Given the description of an element on the screen output the (x, y) to click on. 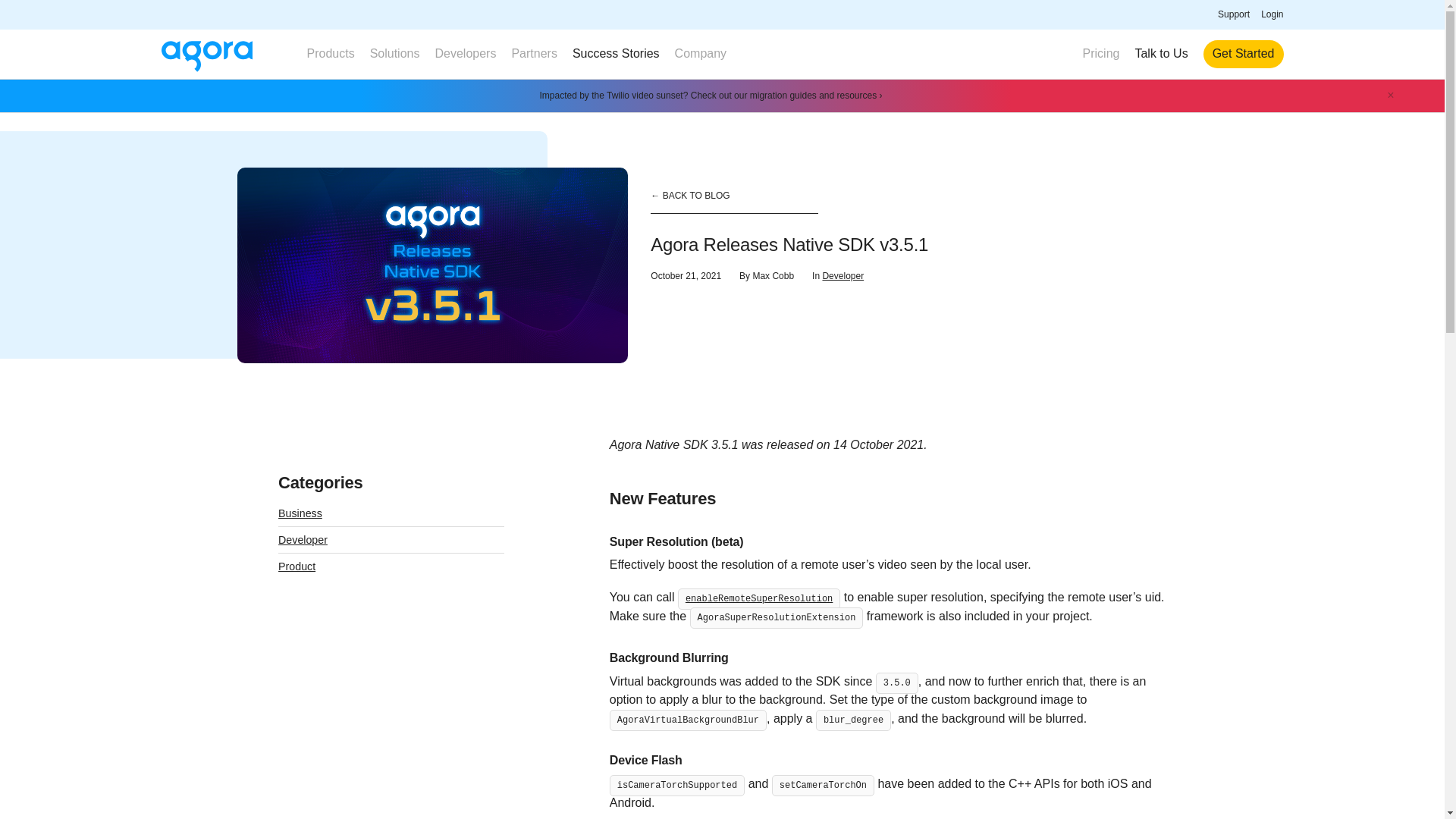
Support (1233, 14)
Solutions (394, 53)
Products (329, 53)
Login (1271, 14)
Skip to content (12, 12)
